Given the description of an element on the screen output the (x, y) to click on. 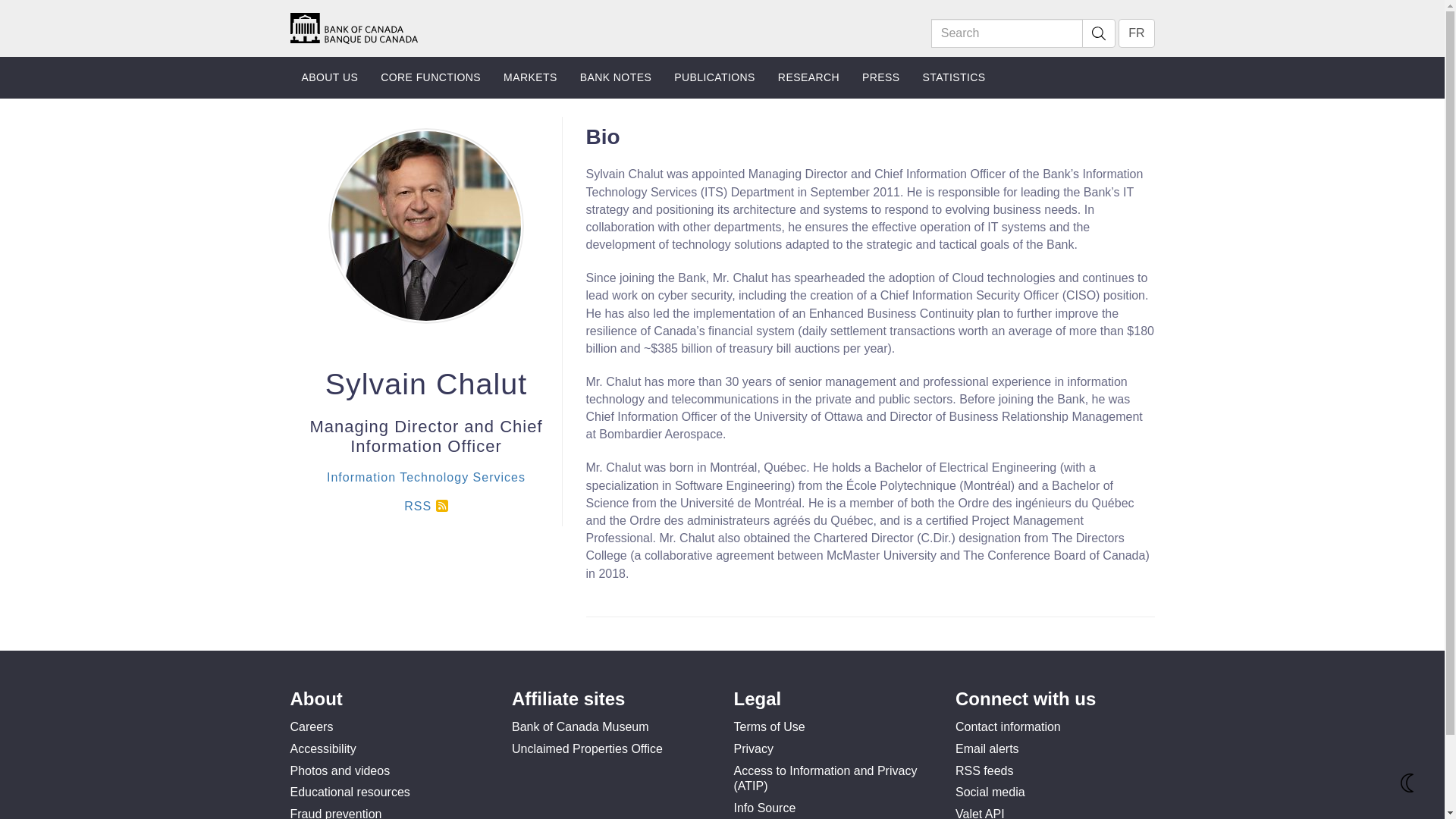
Home (352, 27)
FR (1136, 32)
MARKETS (530, 77)
Subscribe to Sylvain Chalut (425, 505)
rss-feed-square (441, 505)
Search (1098, 32)
Home (352, 27)
Home (352, 28)
CORE FUNCTIONS (430, 77)
Search (1007, 32)
